Given the description of an element on the screen output the (x, y) to click on. 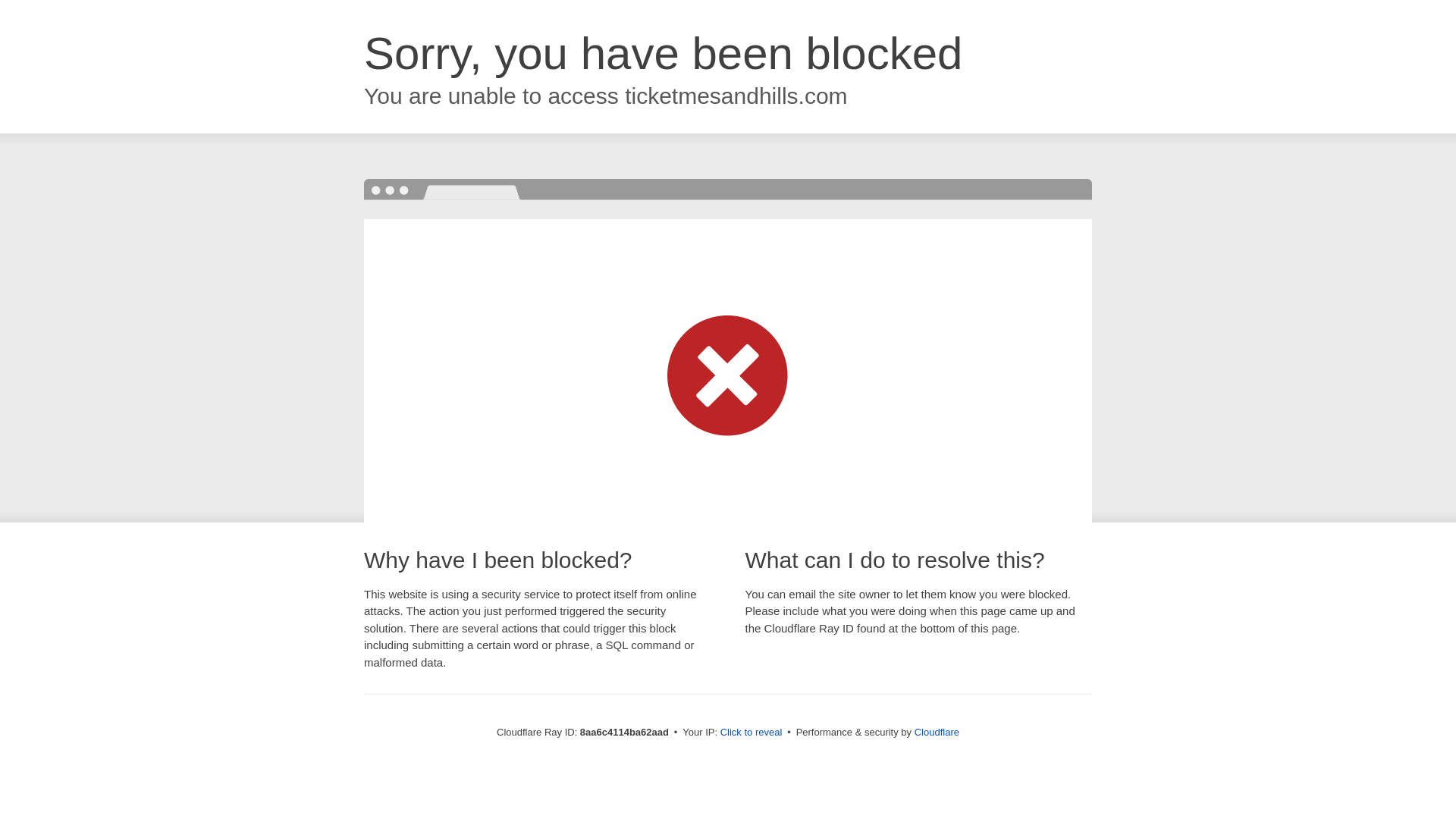
Click to reveal (751, 732)
Cloudflare (936, 731)
